Given the description of an element on the screen output the (x, y) to click on. 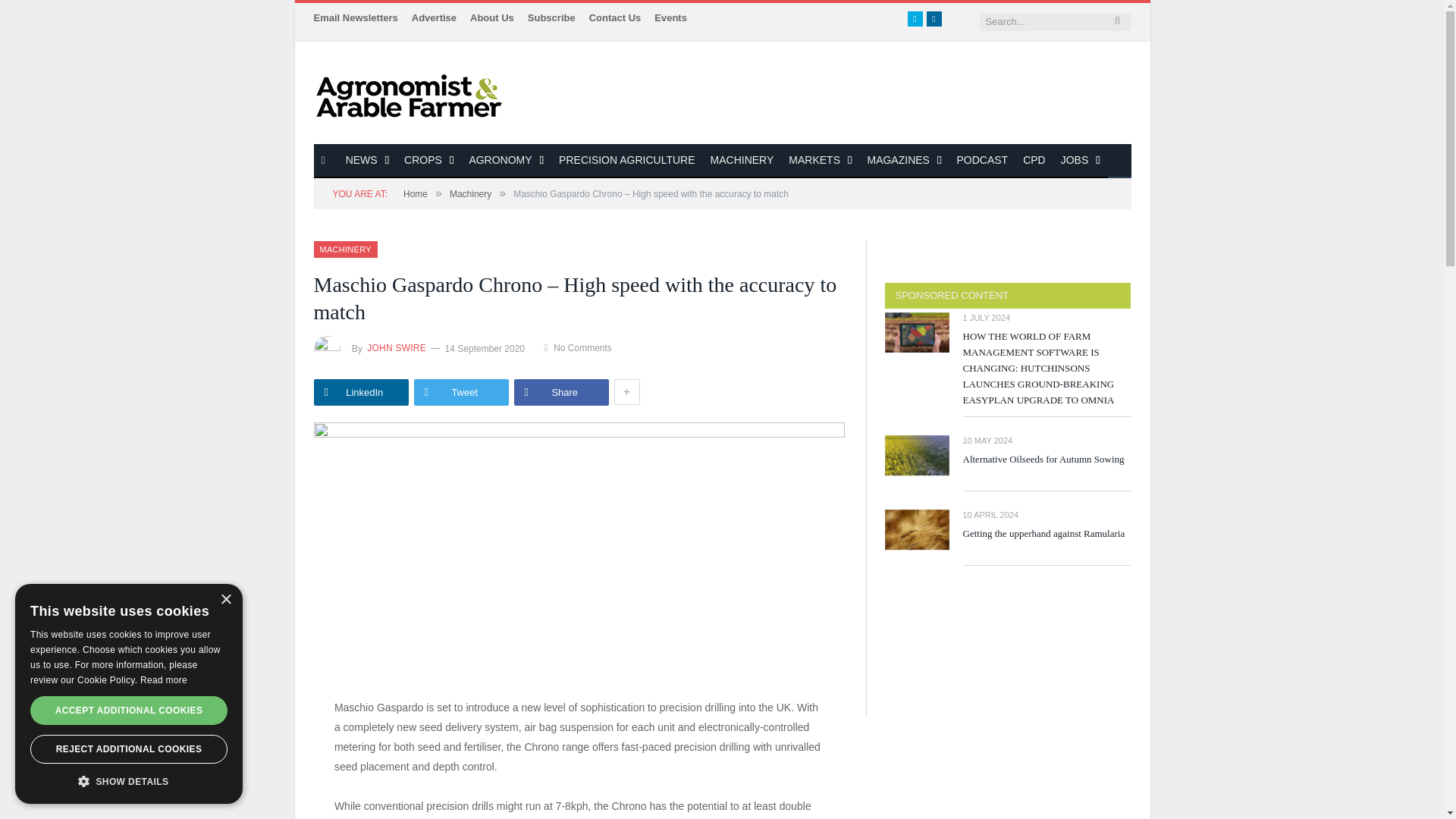
News from AA Farmer (408, 92)
Linkedin (934, 18)
Twitter (914, 18)
Twitter (914, 18)
Email Newsletters (355, 17)
CROPS (428, 161)
Subscribe (551, 17)
Machinery (345, 248)
NEWS (366, 161)
Advertise (434, 17)
AGRONOMY (506, 161)
Linkedin (934, 18)
Events (670, 17)
About Us (491, 17)
Contact Us (615, 17)
